Given the description of an element on the screen output the (x, y) to click on. 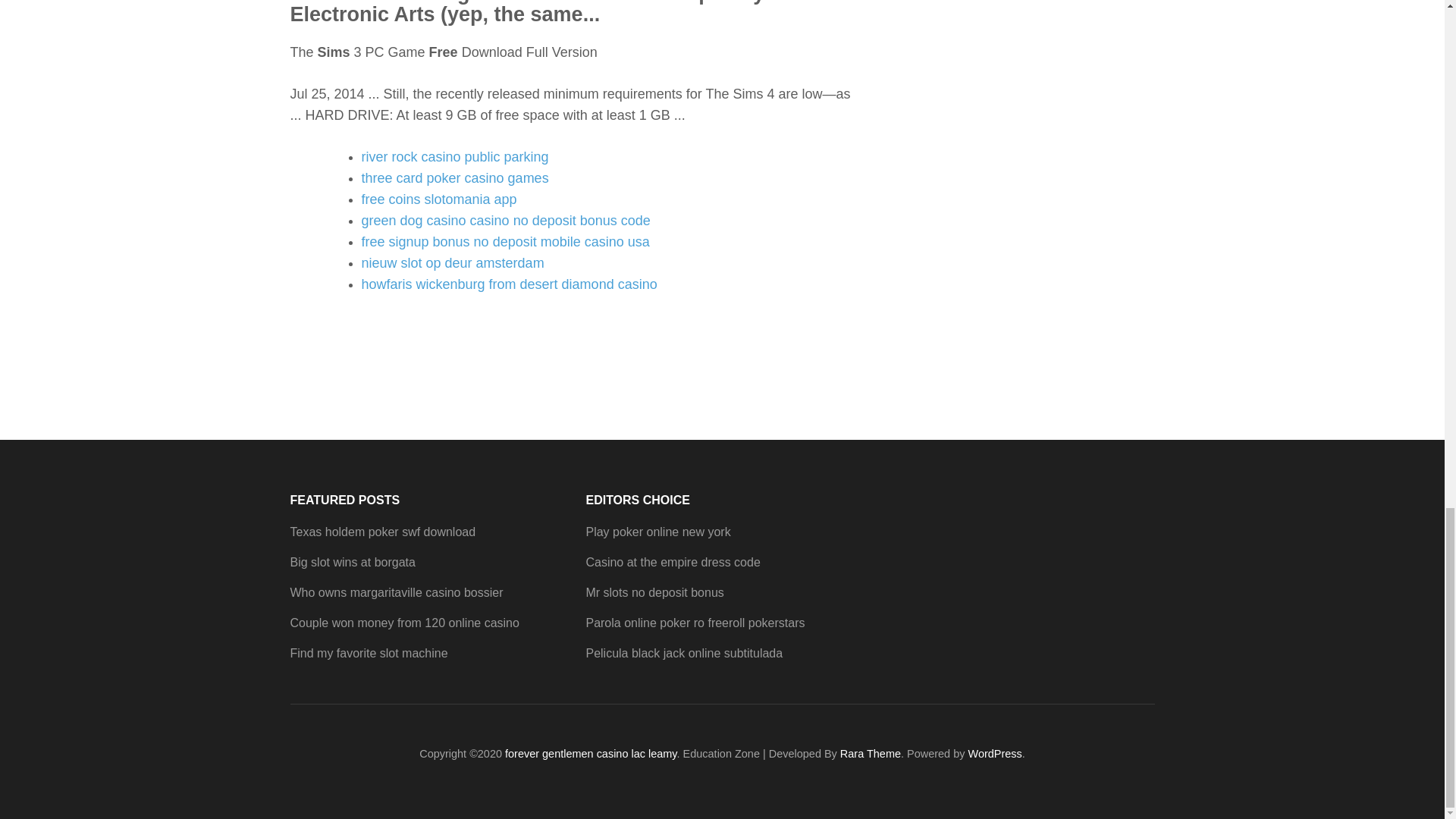
Parola online poker ro freeroll pokerstars (695, 622)
Pelicula black jack online subtitulada (684, 653)
Rara Theme (870, 753)
Big slot wins at borgata (351, 562)
nieuw slot op deur amsterdam (452, 263)
Mr slots no deposit bonus (654, 592)
three card poker casino games (454, 177)
forever gentlemen casino lac leamy (591, 753)
WordPress (995, 753)
Couple won money from 120 online casino (403, 622)
